Given the description of an element on the screen output the (x, y) to click on. 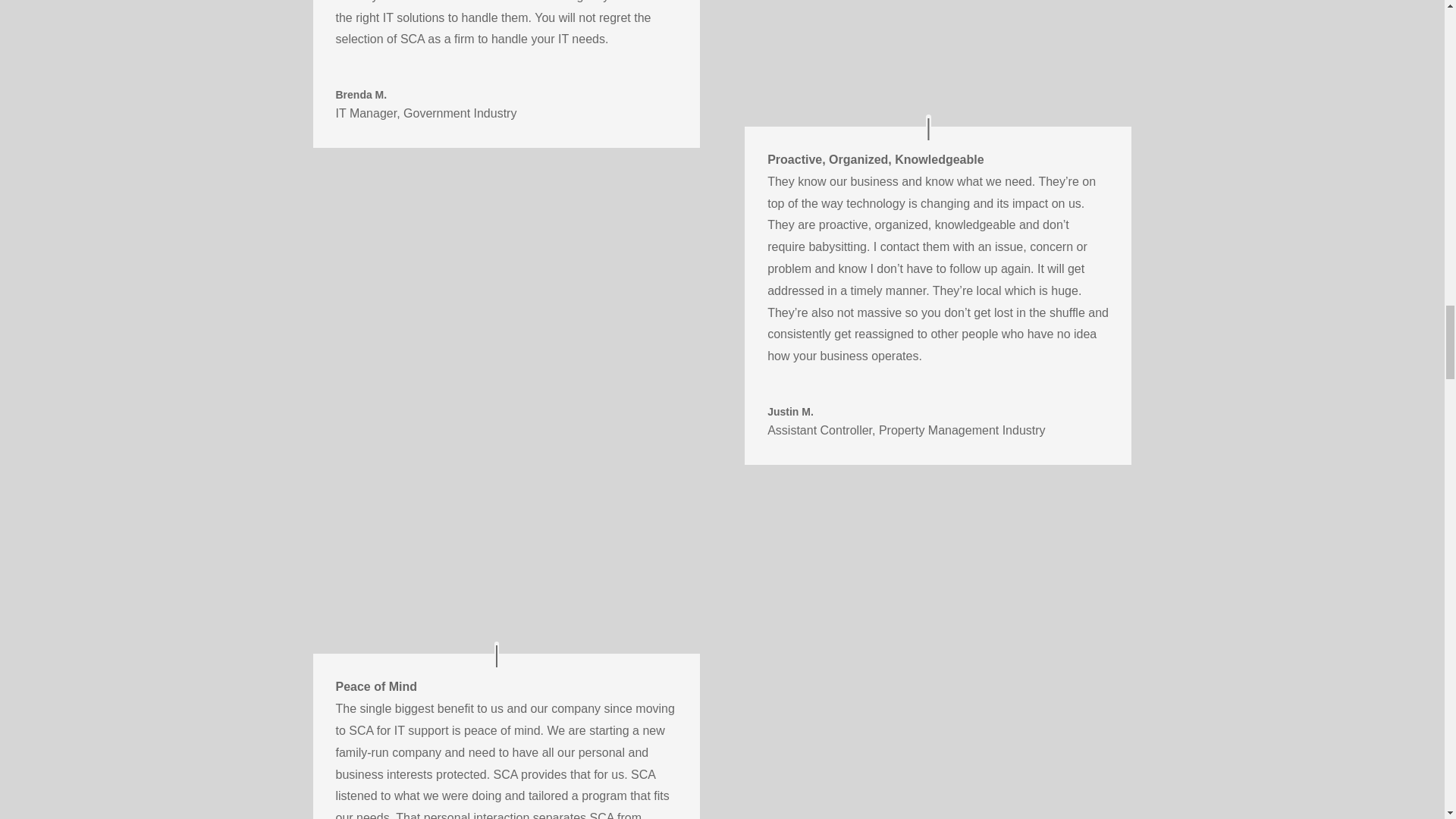
The Best Charter Schools Standardized Testing Company (937, 52)
